Given the description of an element on the screen output the (x, y) to click on. 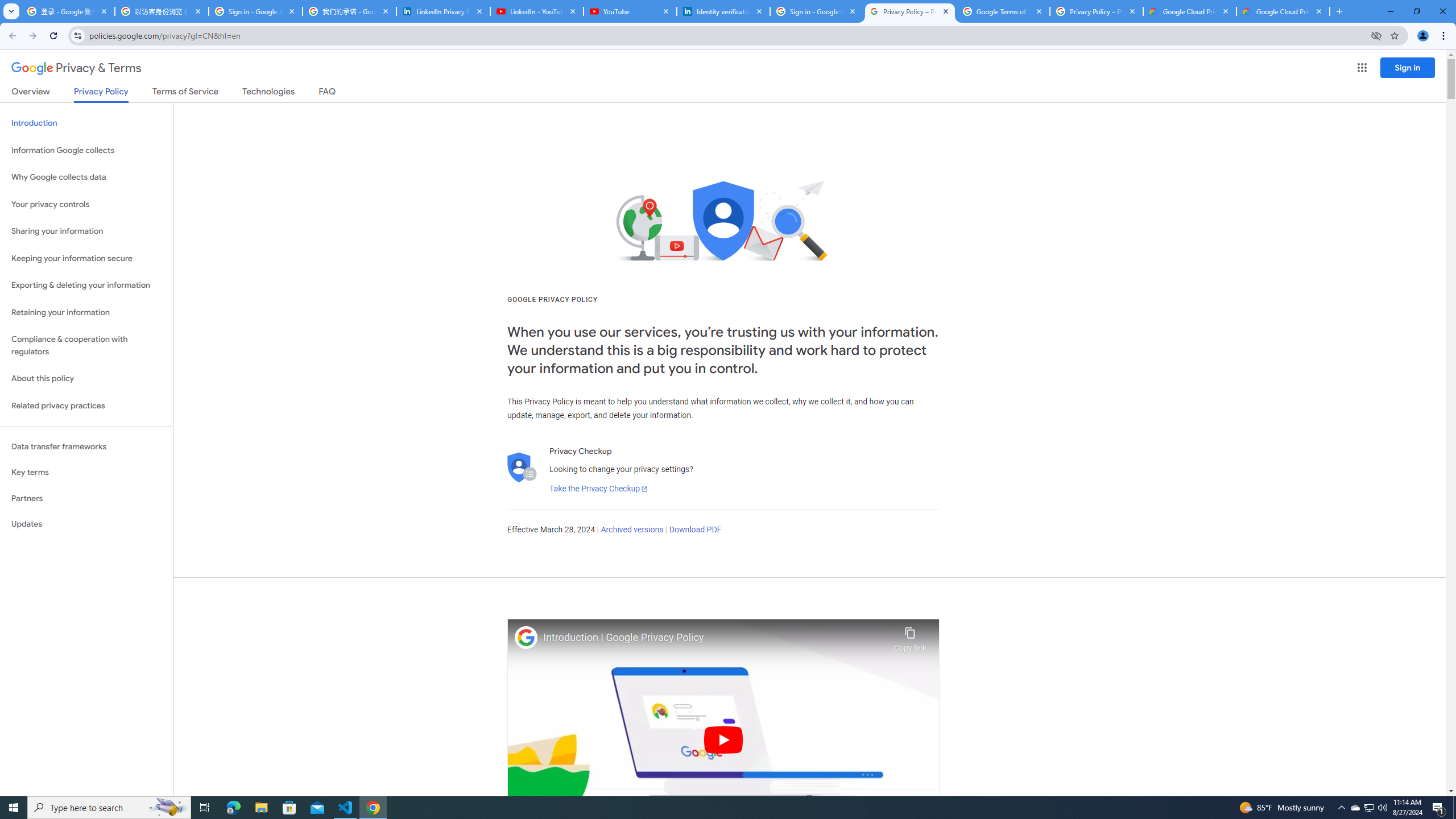
Copy link (909, 636)
LinkedIn - YouTube (536, 11)
Play (723, 739)
YouTube (629, 11)
About this policy (86, 379)
